Given the description of an element on the screen output the (x, y) to click on. 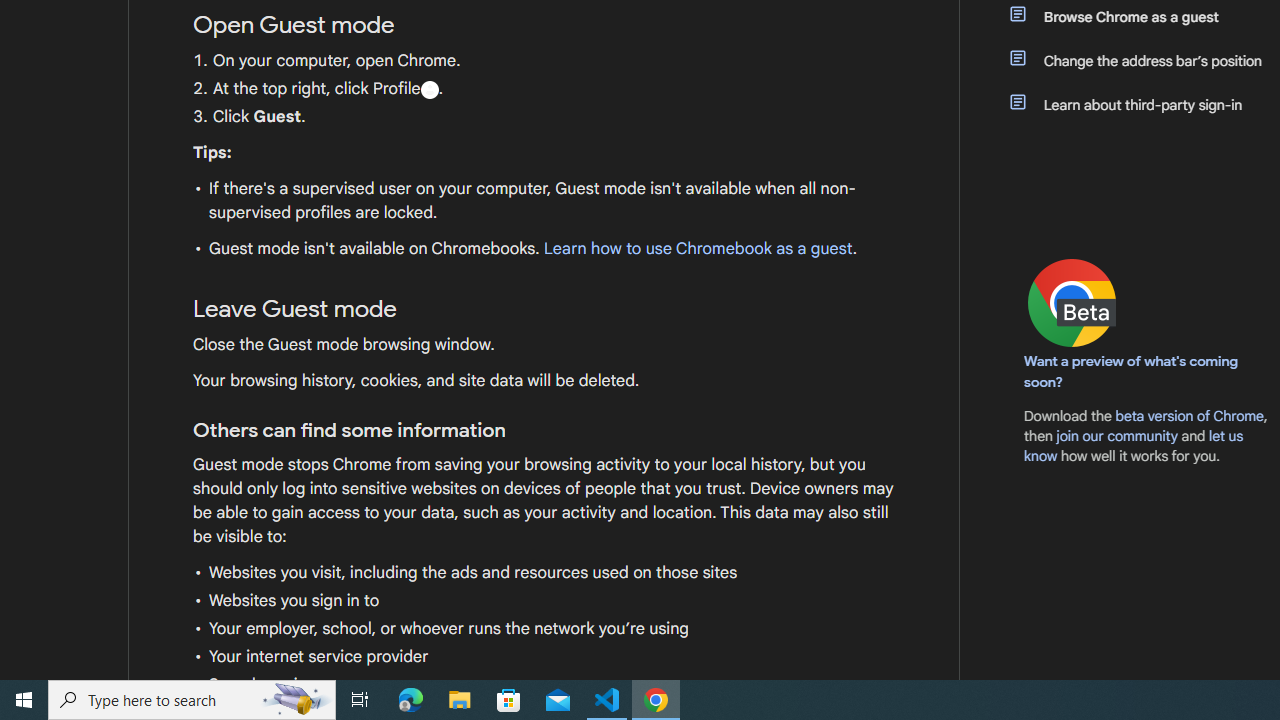
Want a preview of what's coming soon? (1131, 371)
Learn how to use Chromebook as a guest (697, 249)
Chrome Beta logo (1072, 302)
let us know (1134, 445)
Profile (429, 89)
join our community (1116, 435)
beta version of Chrome (1189, 415)
